Given the description of an element on the screen output the (x, y) to click on. 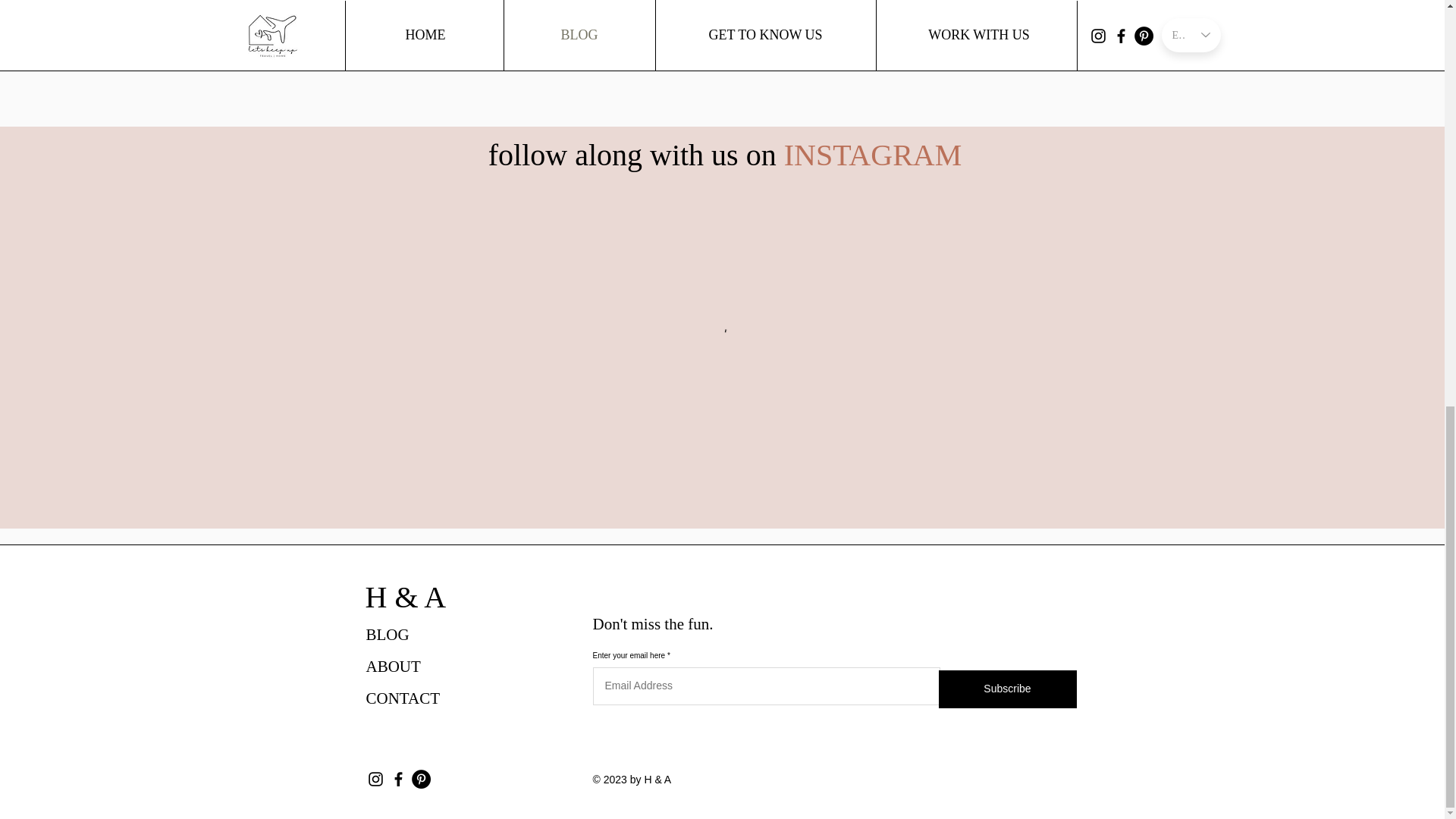
Join Our Mailing List (1005, 3)
BLOG (387, 634)
Subscribe (1008, 689)
CONTACT (402, 698)
ABOUT (392, 666)
